Given the description of an element on the screen output the (x, y) to click on. 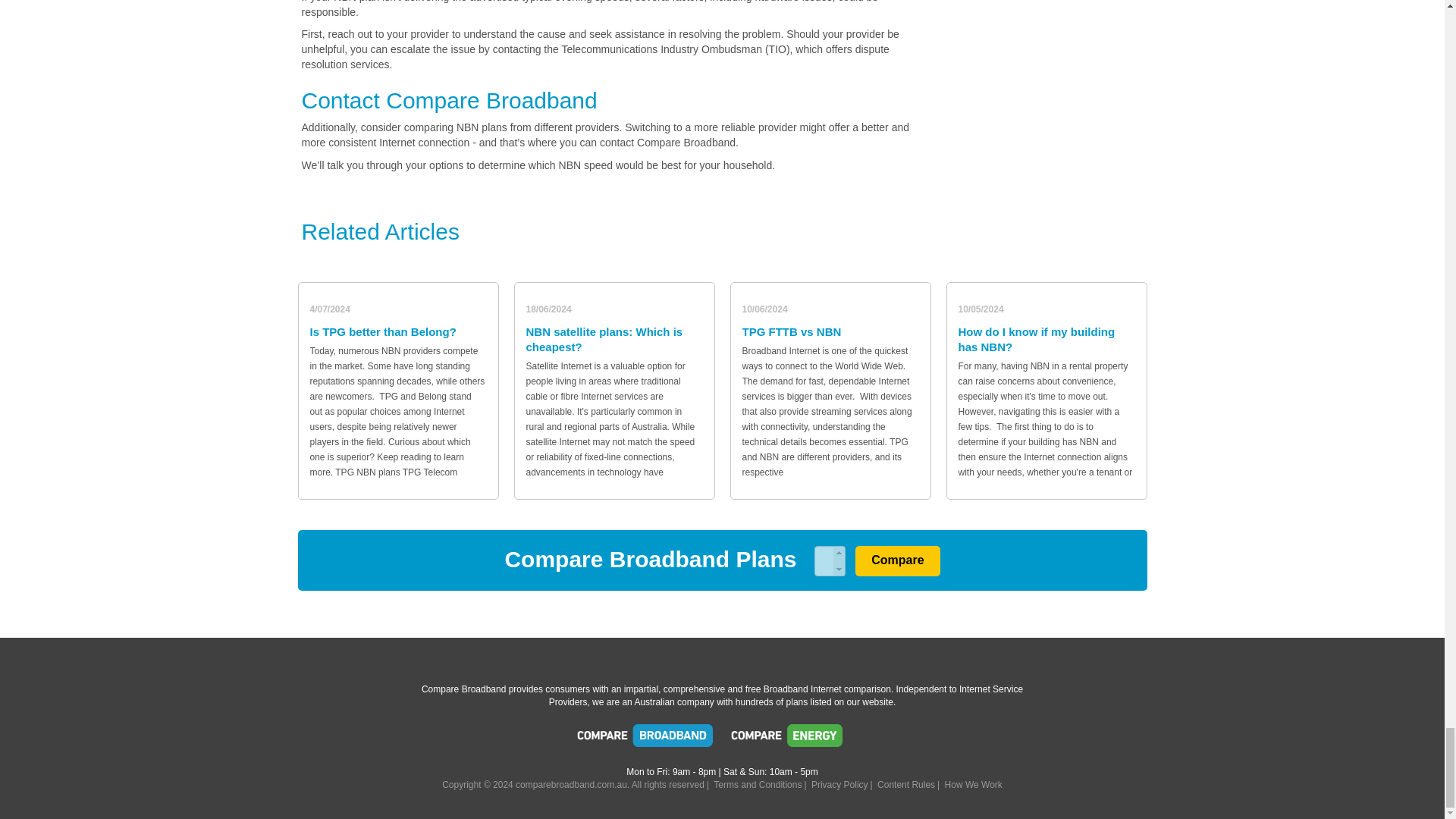
Compare Energy Logo (798, 738)
Compare Broadband Logo (644, 738)
